Given the description of an element on the screen output the (x, y) to click on. 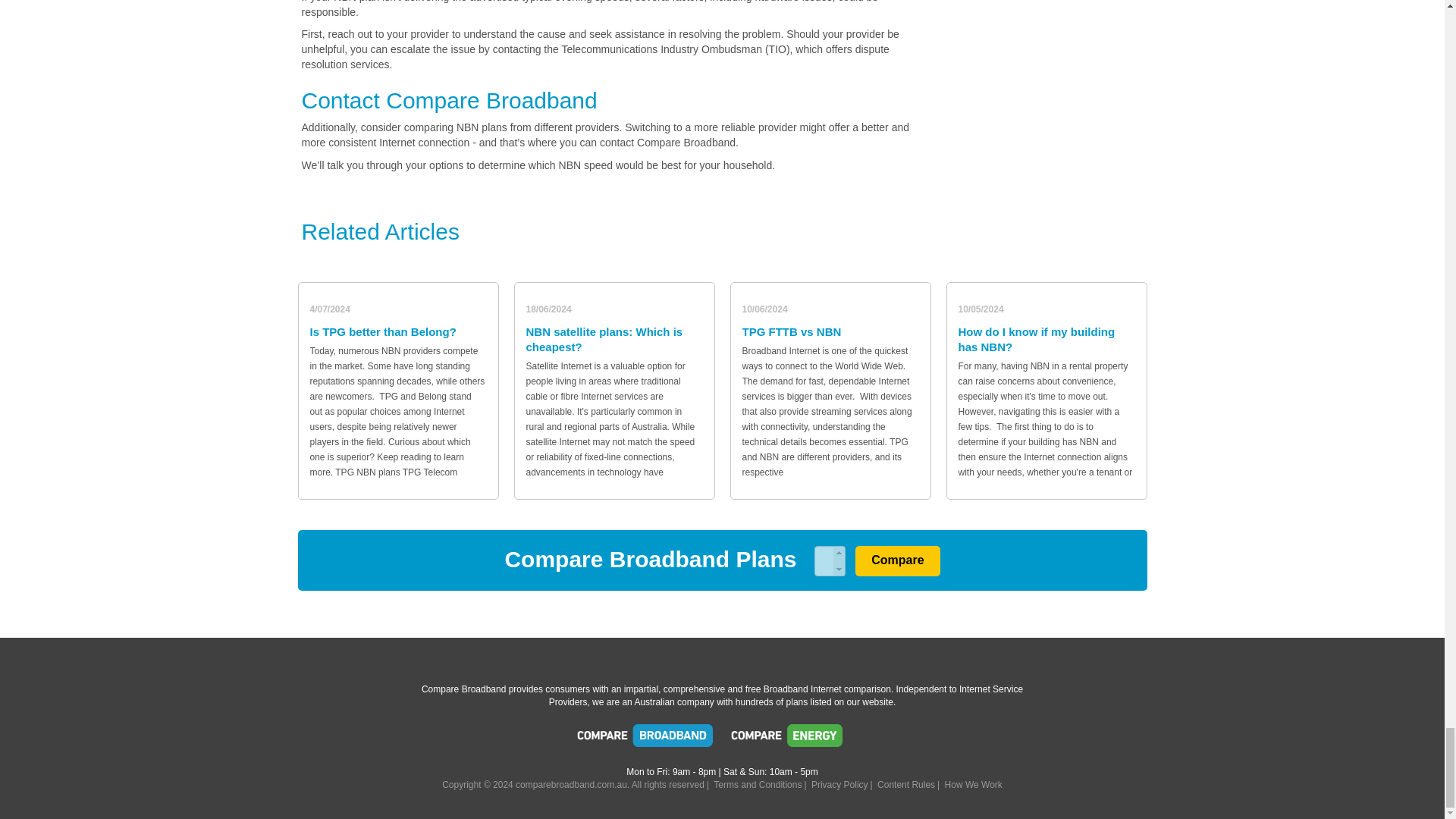
Compare Energy Logo (798, 738)
Compare Broadband Logo (644, 738)
